Given the description of an element on the screen output the (x, y) to click on. 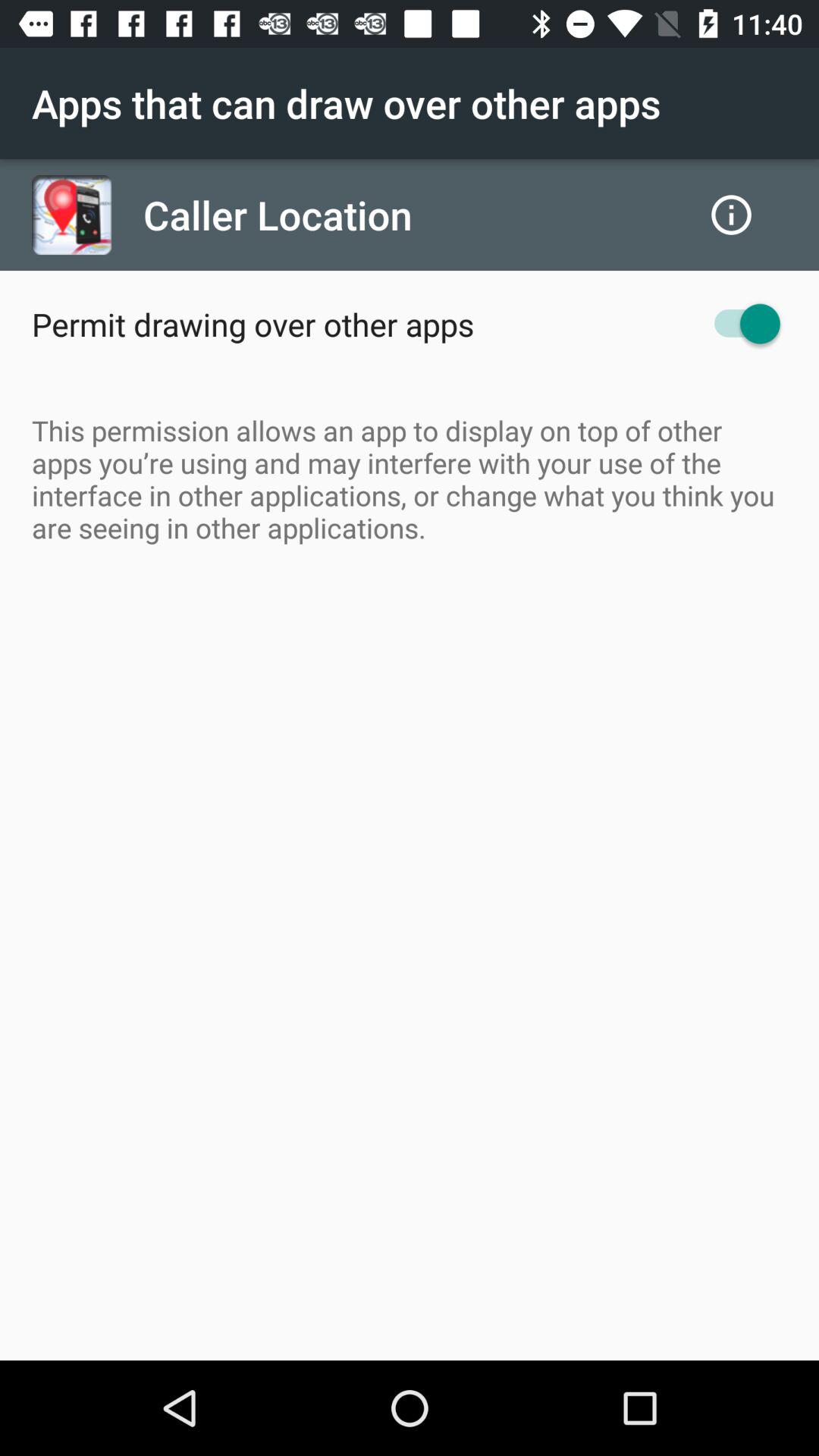
launch item above this permission allows (739, 323)
